Given the description of an element on the screen output the (x, y) to click on. 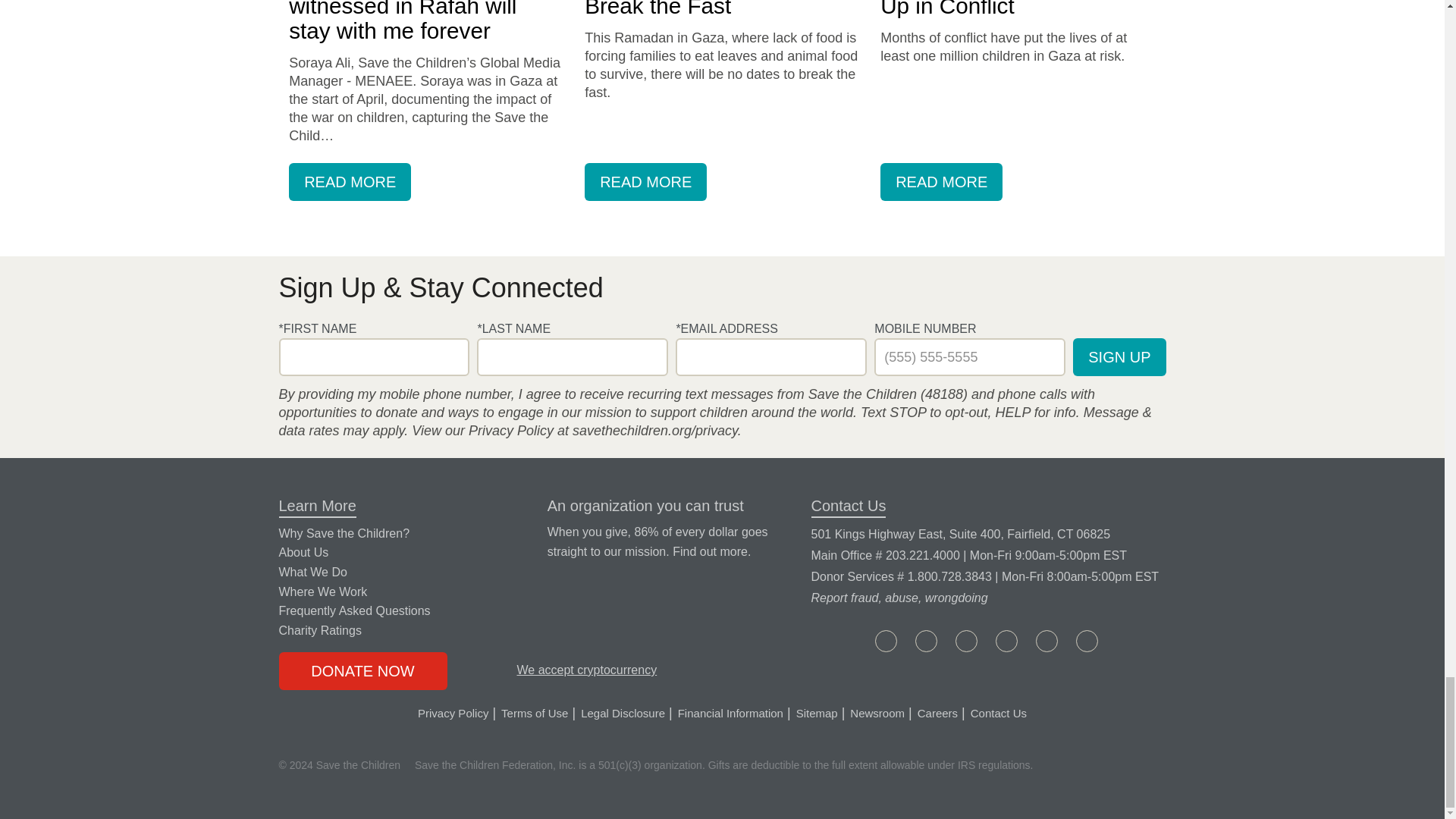
Sign Up (1119, 356)
